Given the description of an element on the screen output the (x, y) to click on. 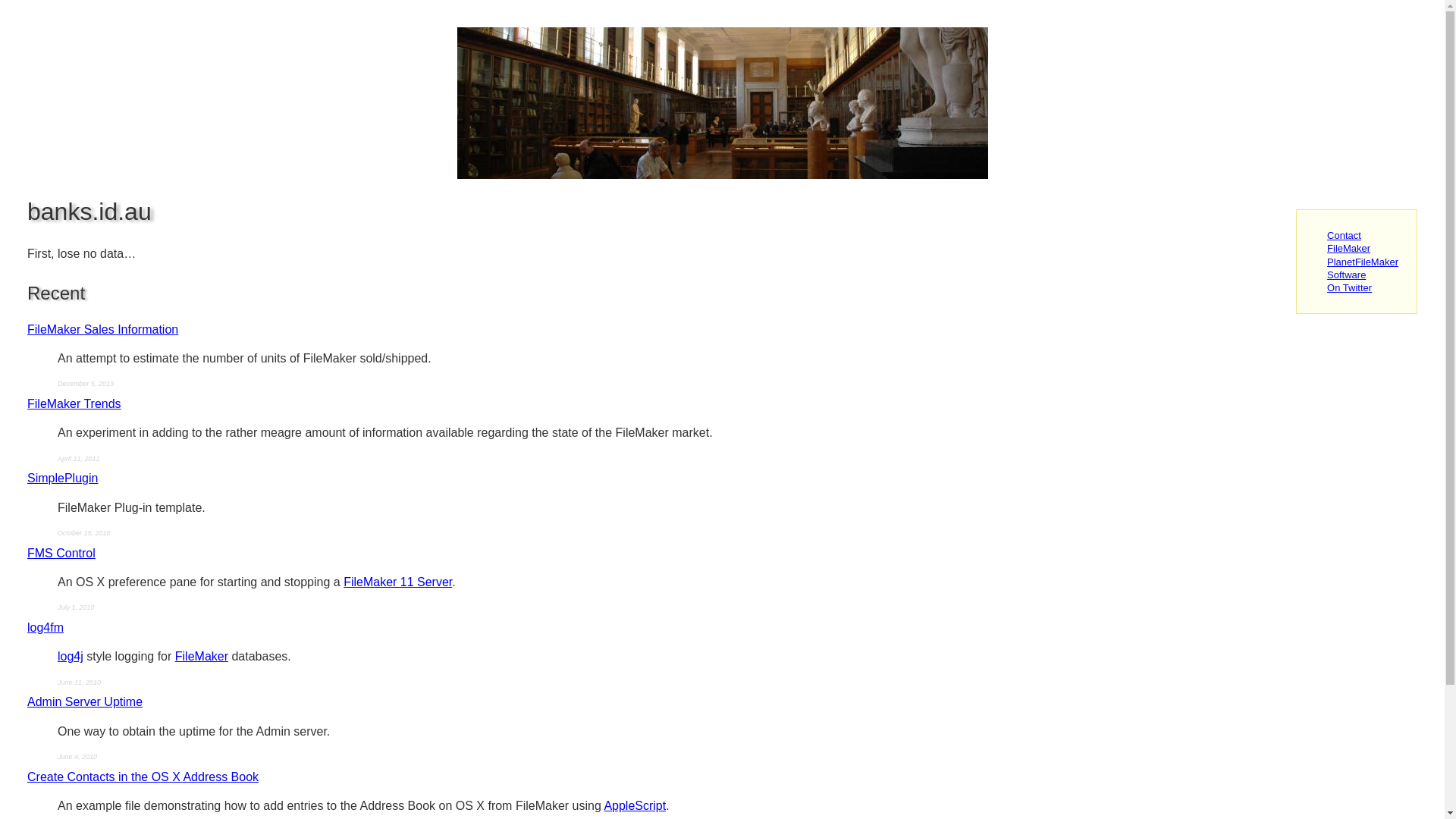
FileMaker Element type: text (1348, 248)
FMS Control Element type: text (61, 552)
FileMaker Sales Information Element type: text (102, 329)
FileMaker Trends Element type: text (74, 403)
PlanetFileMaker Element type: text (1362, 261)
log4j Element type: text (70, 655)
Admin Server Uptime Element type: text (84, 701)
On Twitter Element type: text (1349, 287)
FileMaker 11 Server Element type: text (397, 581)
SimplePlugin Element type: text (62, 477)
FileMaker Element type: text (201, 655)
Software Element type: text (1346, 274)
log4fm Element type: text (45, 627)
AppleScript Element type: text (634, 805)
Contact Element type: text (1344, 235)
Create Contacts in the OS X Address Book Element type: text (142, 776)
